Given the description of an element on the screen output the (x, y) to click on. 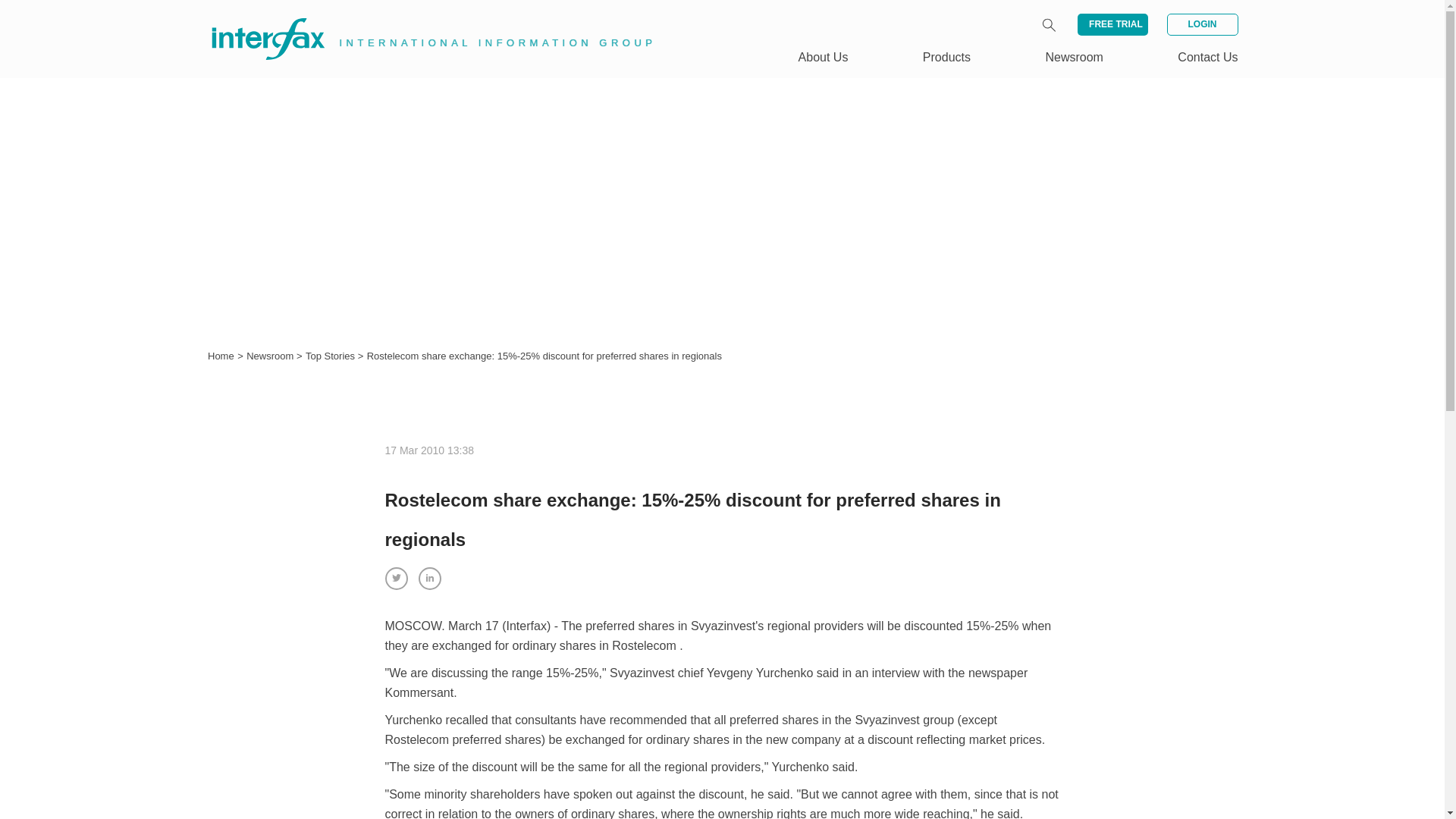
Top Stories (331, 355)
About Us (822, 56)
Newsroom (271, 355)
Newsroom (1073, 56)
Products (947, 56)
INTERNATIONAL INFORMATION GROUP (421, 20)
Home (221, 355)
LOGIN (1201, 24)
Contact Us (1207, 56)
FREE TRIAL (1112, 24)
